Given the description of an element on the screen output the (x, y) to click on. 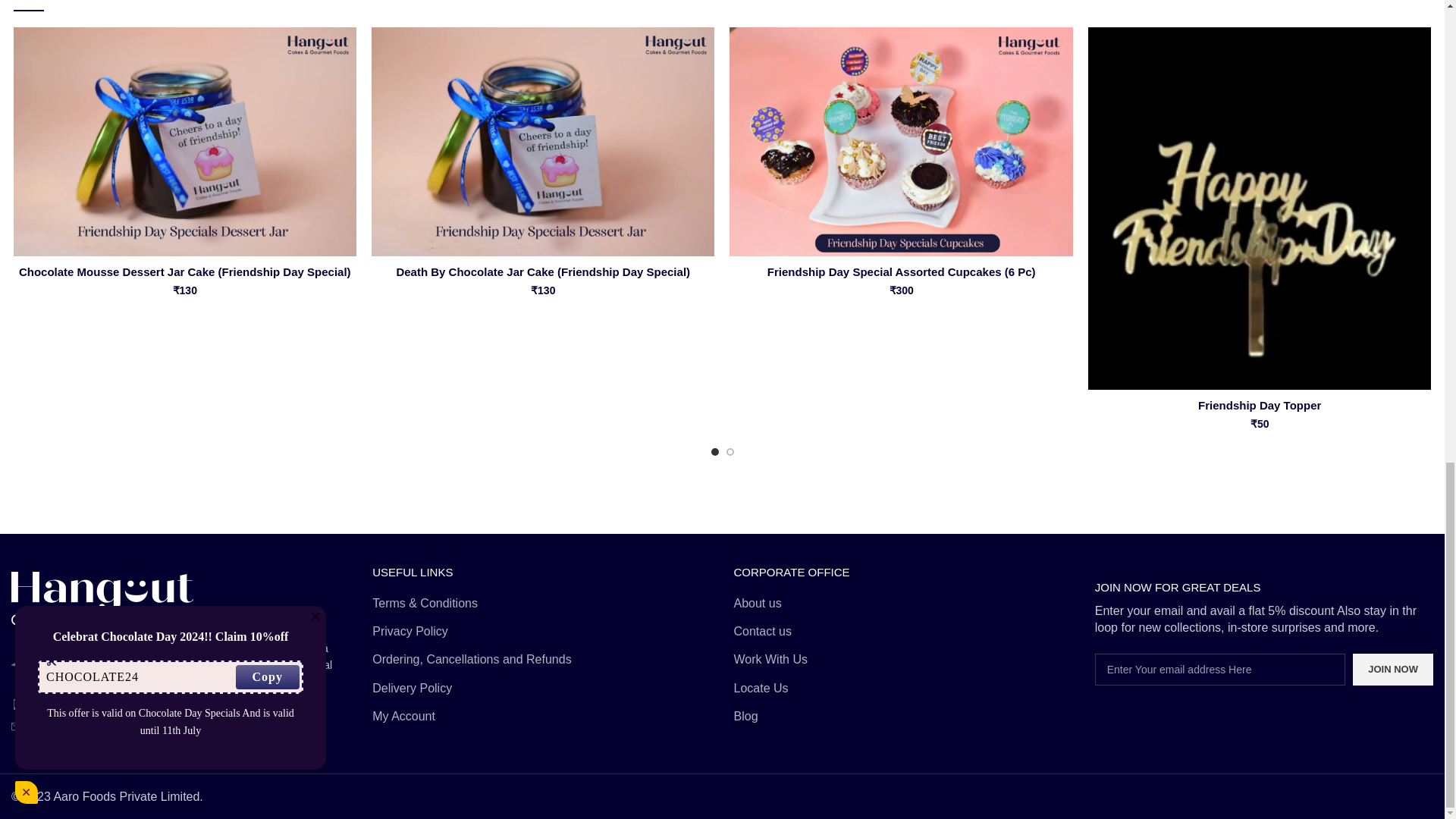
Join Now (1392, 669)
